Given the description of an element on the screen output the (x, y) to click on. 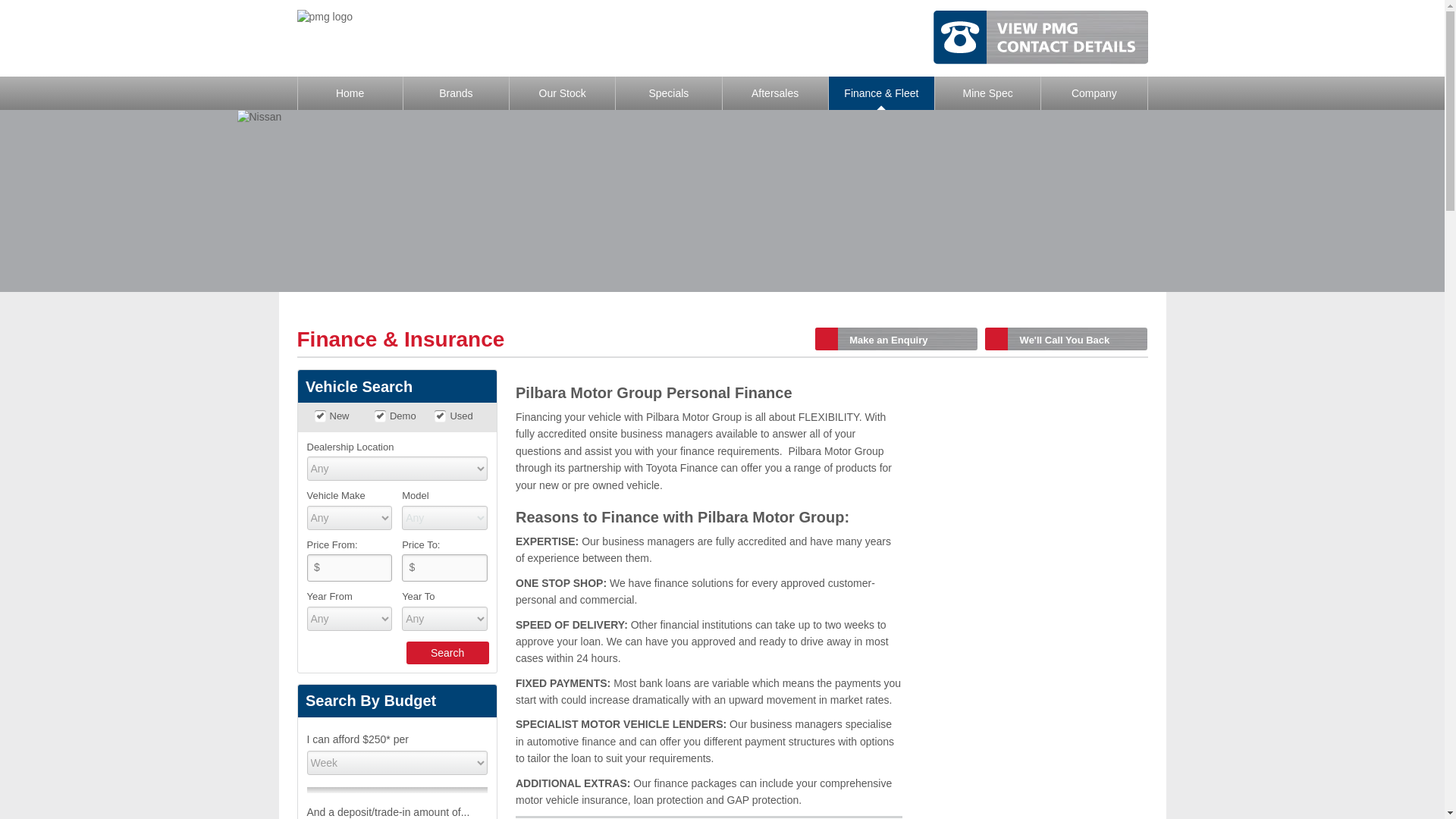
Our Stock (561, 92)
Aftersales (774, 92)
Company (1094, 92)
Search (447, 652)
Mine Spec (987, 92)
